Given the description of an element on the screen output the (x, y) to click on. 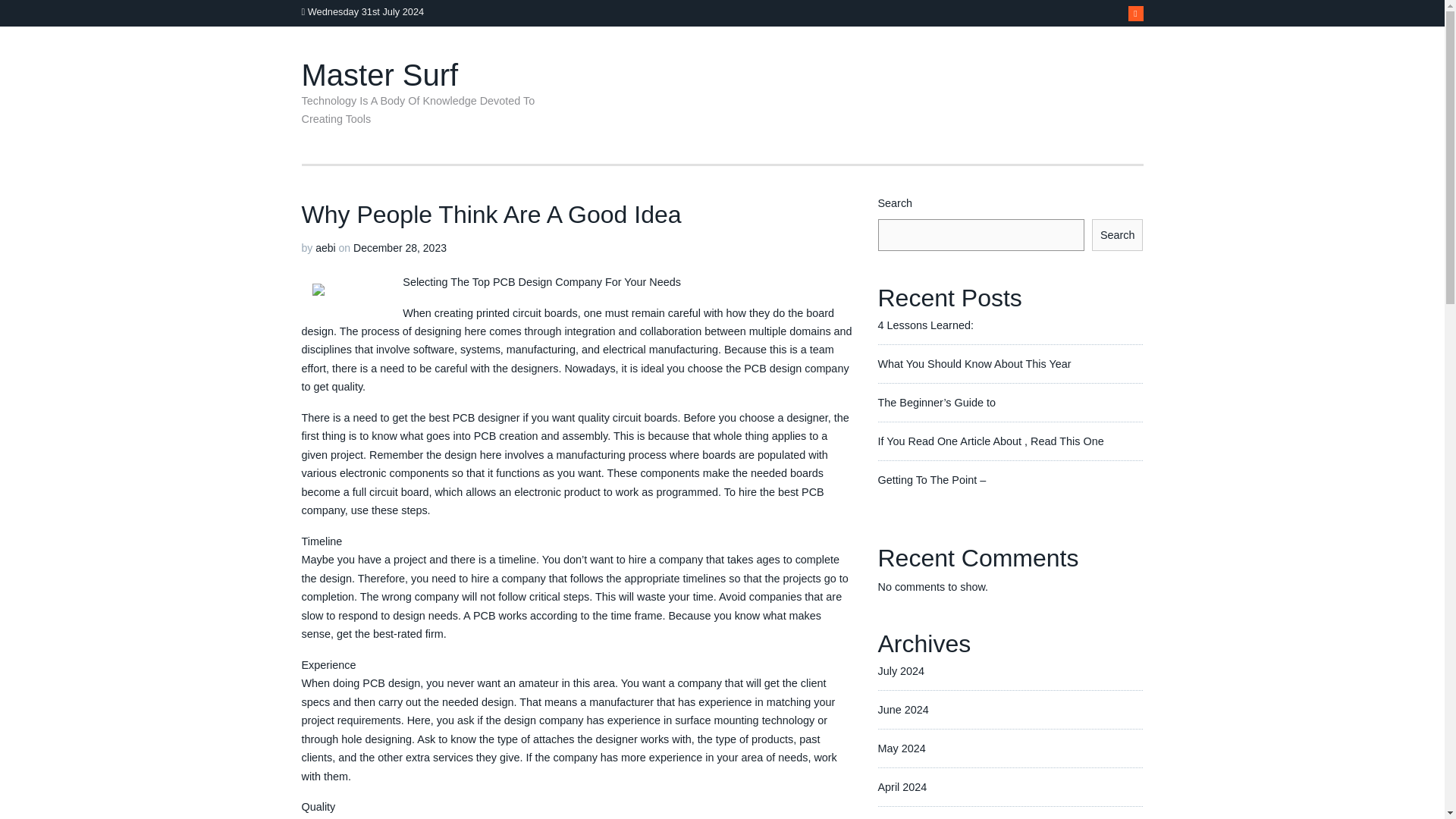
April 2024 (902, 787)
July 2024 (900, 671)
What You Should Know About This Year (974, 363)
Search (1117, 234)
Master Surf (379, 74)
December 28, 2023 (399, 247)
aebi (324, 247)
Master Surf (379, 74)
June 2024 (902, 709)
4 Lessons Learned: (925, 325)
